Given the description of an element on the screen output the (x, y) to click on. 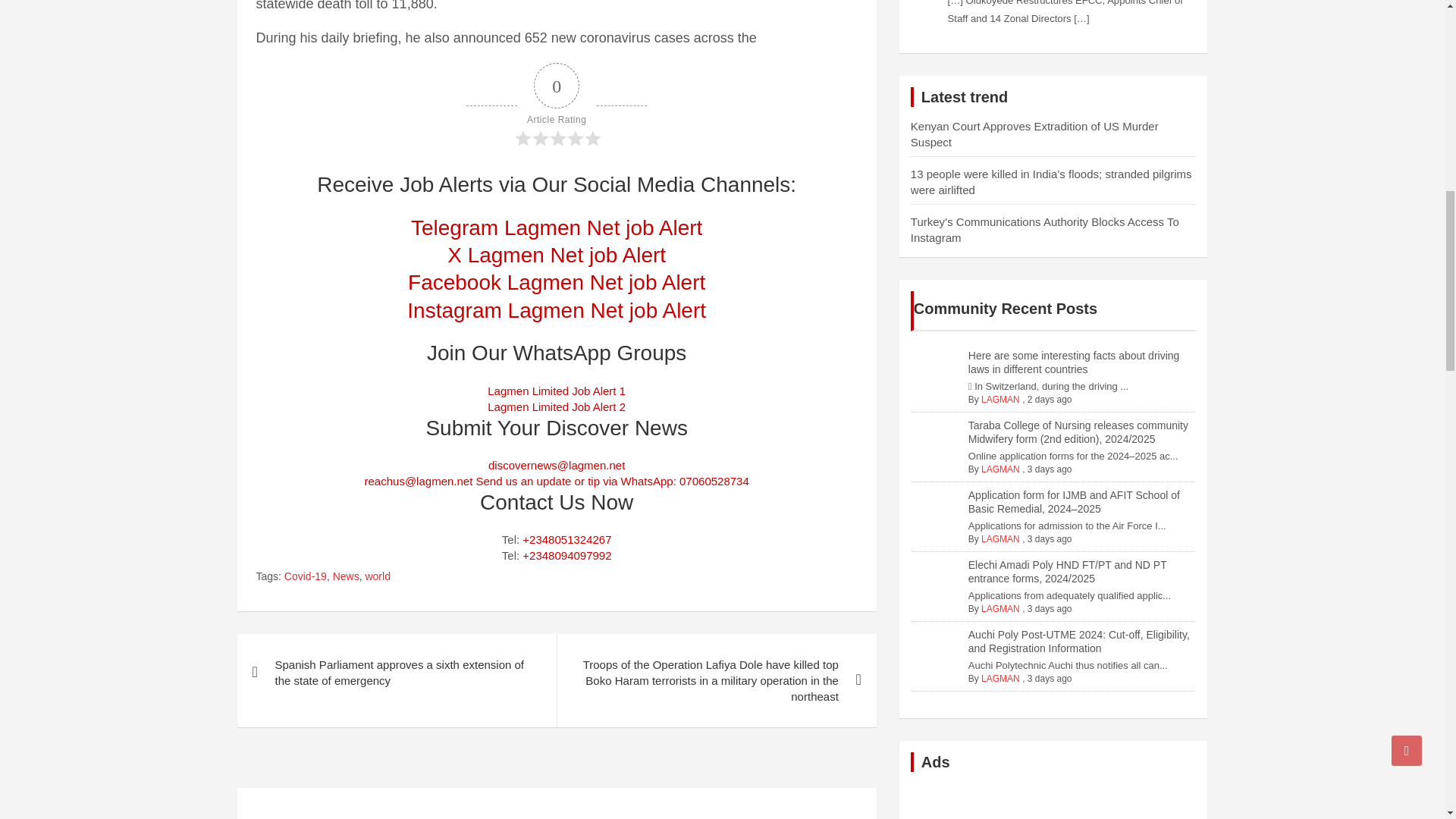
Telegram Lagmen Net job Alert (555, 227)
LAGMAN (1000, 538)
LAGMAN (1000, 398)
LAGMAN (1000, 678)
LAGMAN (1000, 469)
LAGMAN (1000, 608)
